Given the description of an element on the screen output the (x, y) to click on. 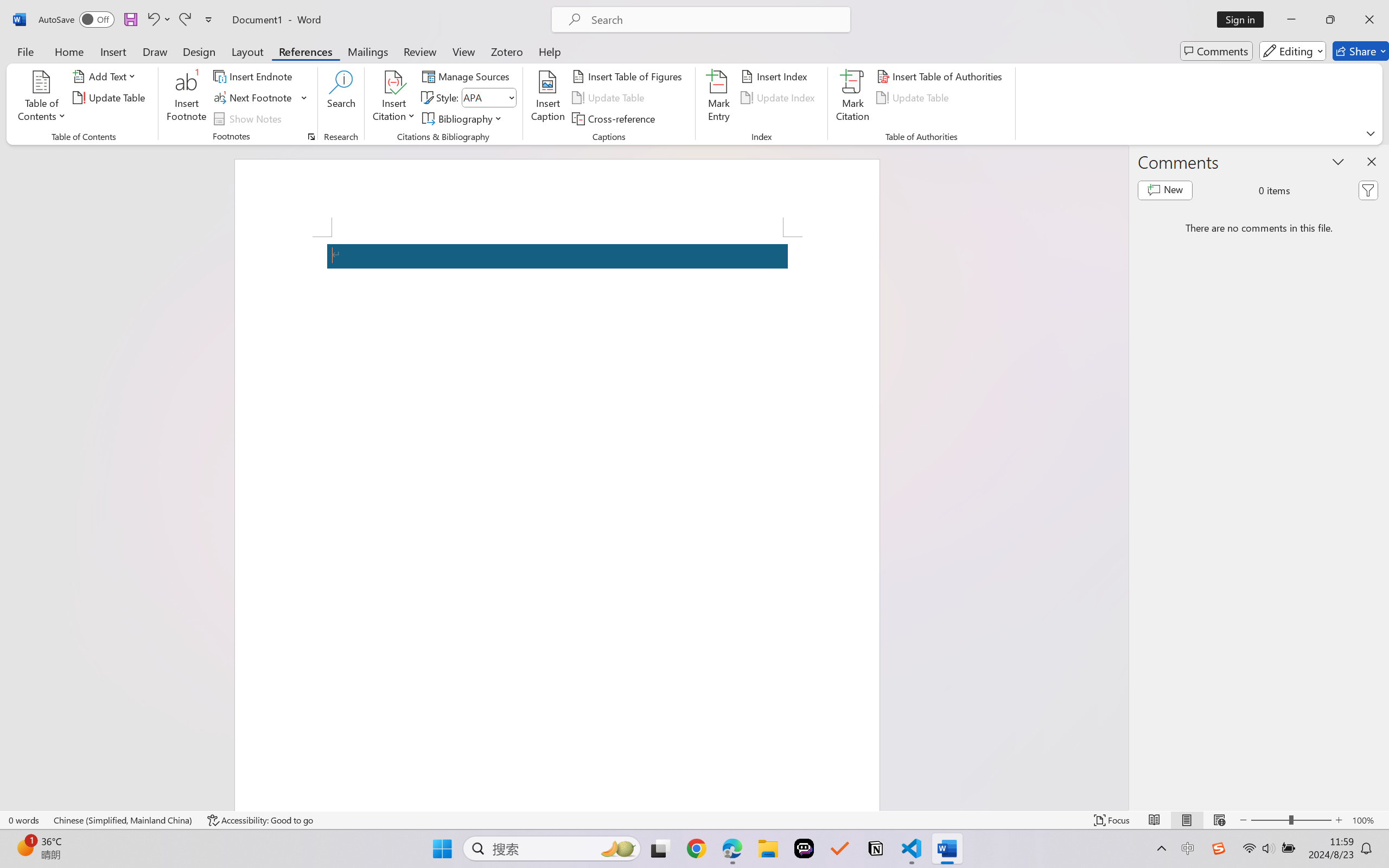
Insert Footnote (186, 97)
Insert Table of Authorities... (941, 75)
New comment (1165, 190)
Table of Contents (42, 97)
Filter (1367, 190)
